Given the description of an element on the screen output the (x, y) to click on. 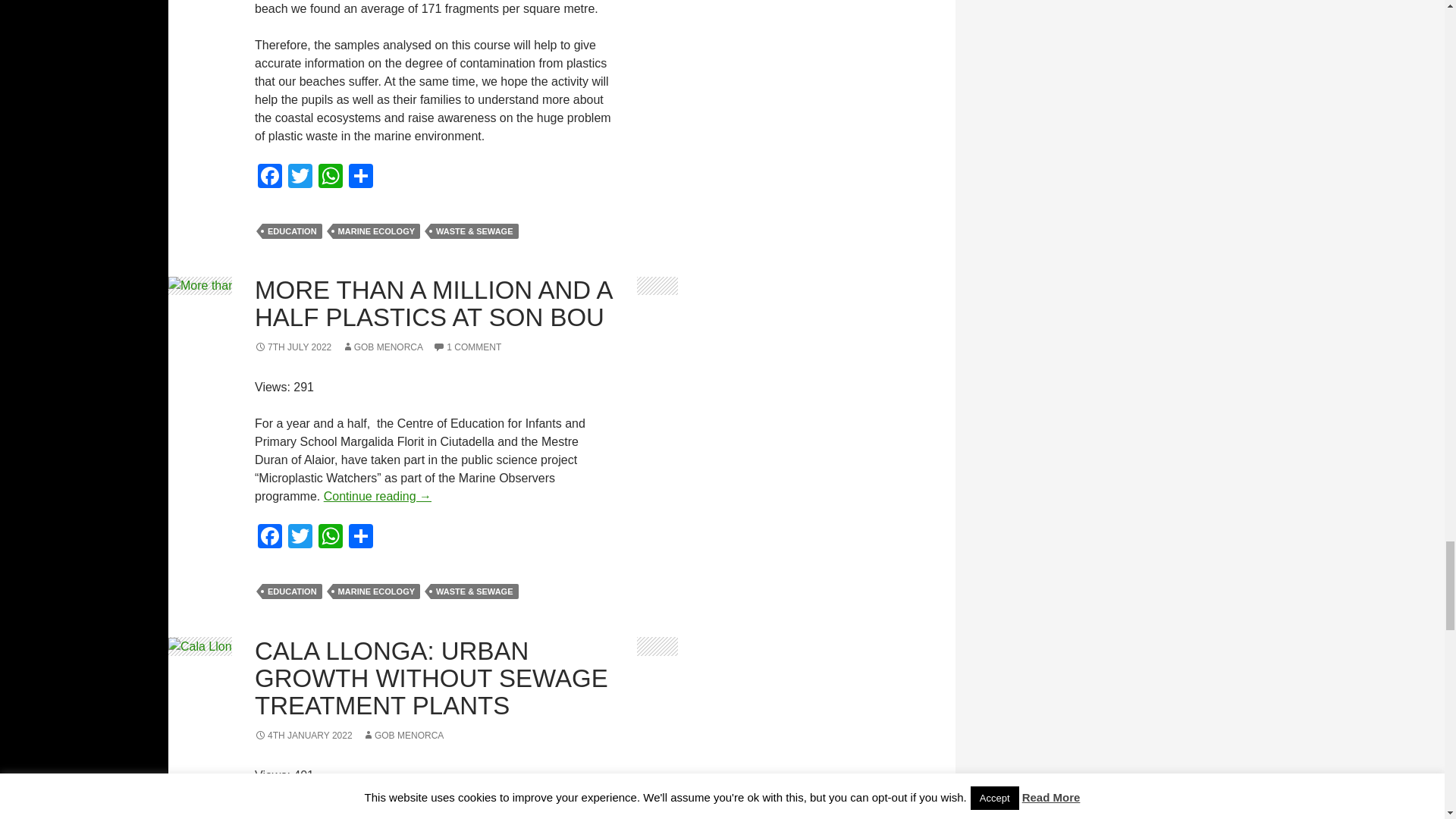
Facebook (269, 177)
Twitter (300, 177)
WhatsApp (330, 177)
